Given the description of an element on the screen output the (x, y) to click on. 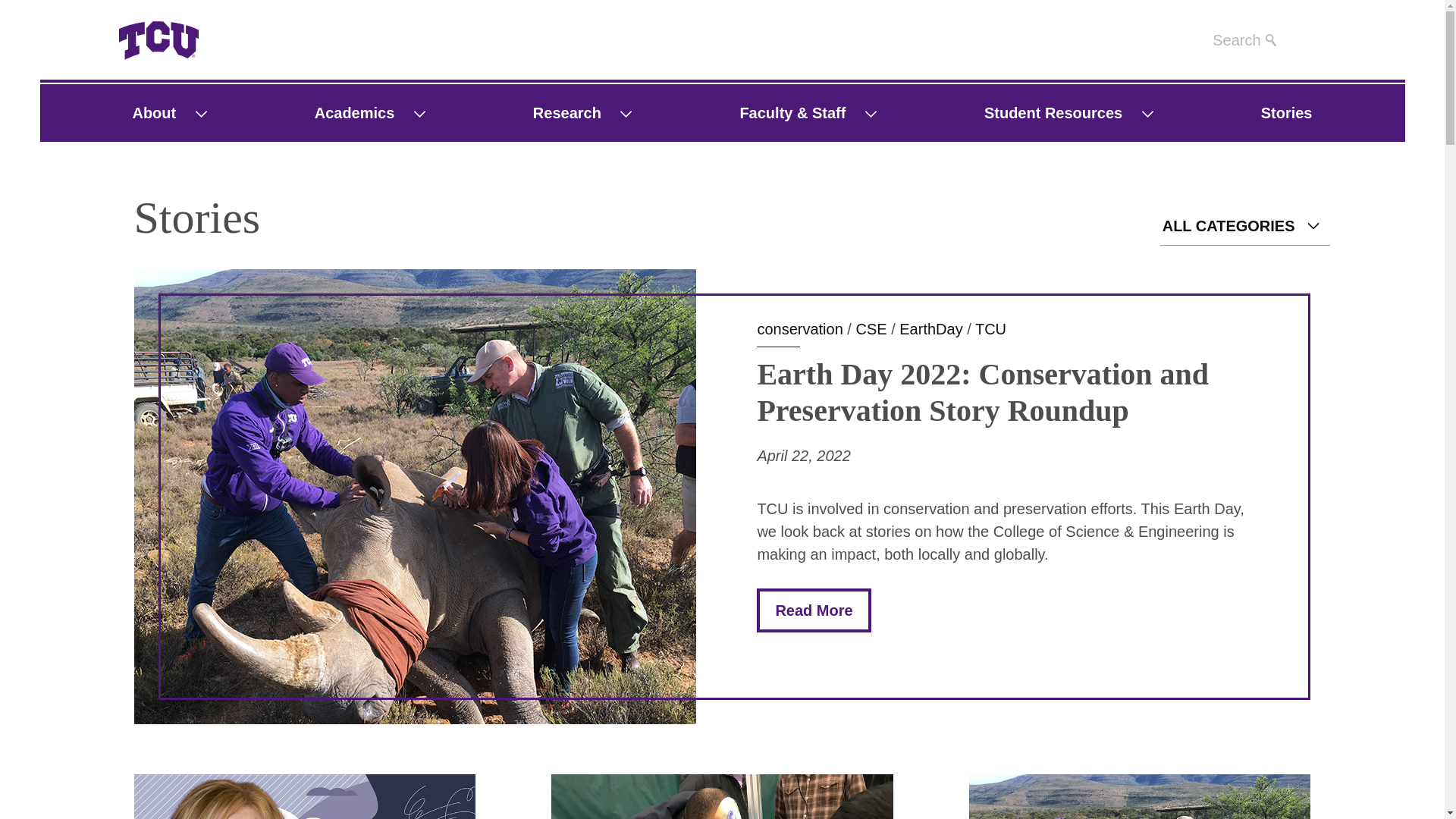
Read the full story (813, 610)
Academics (345, 112)
About (145, 112)
Research (558, 112)
